Given the description of an element on the screen output the (x, y) to click on. 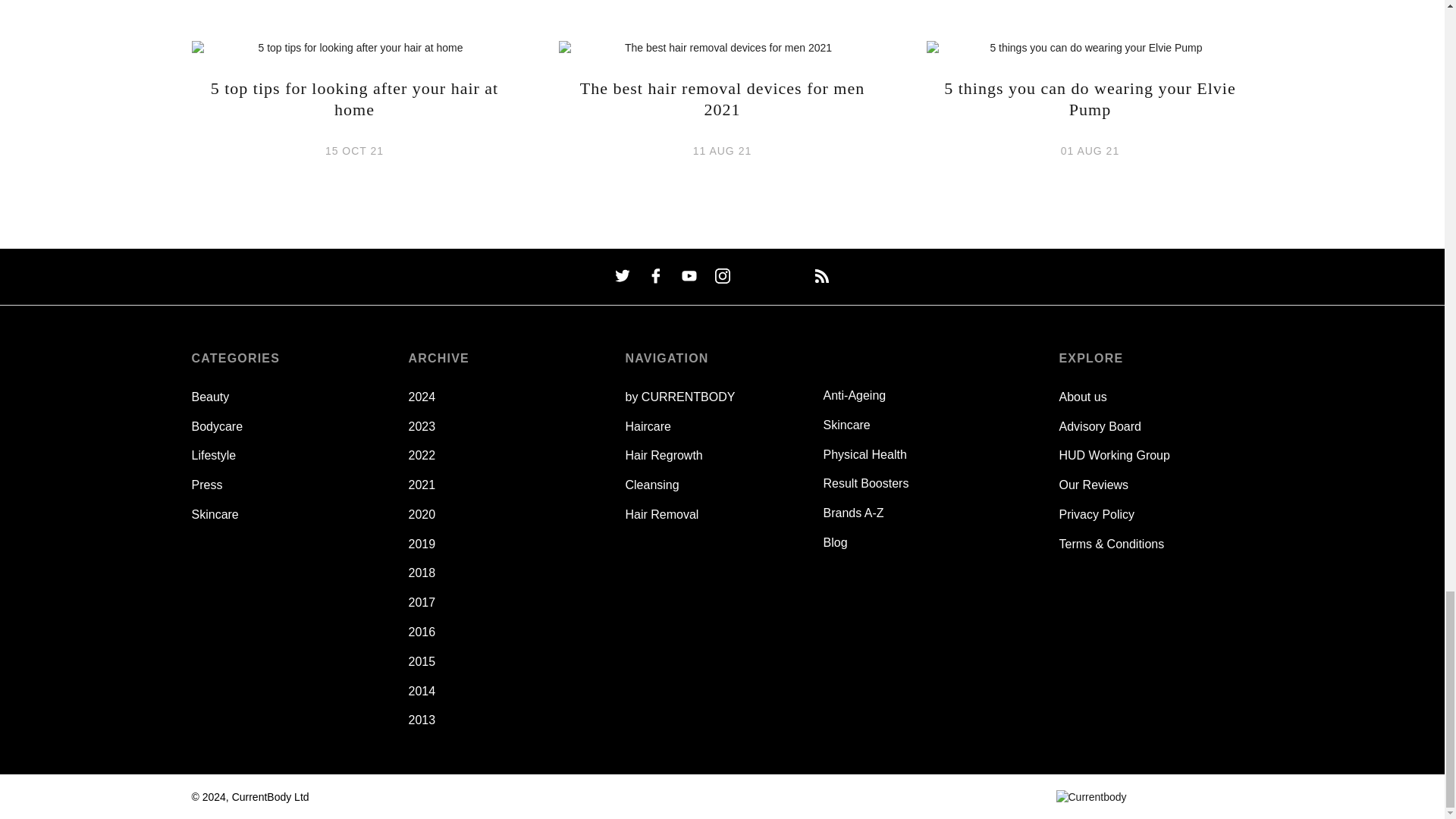
CurrentBody ME on Weibo (788, 275)
CurrentBody ME on Instagram (721, 275)
CurrentBody ME on Facebook (655, 275)
CurrentBody ME on Wechat (755, 275)
CurrentBody ME on Twitter (622, 275)
CurrentBody ME on YouTube (689, 275)
